Given the description of an element on the screen output the (x, y) to click on. 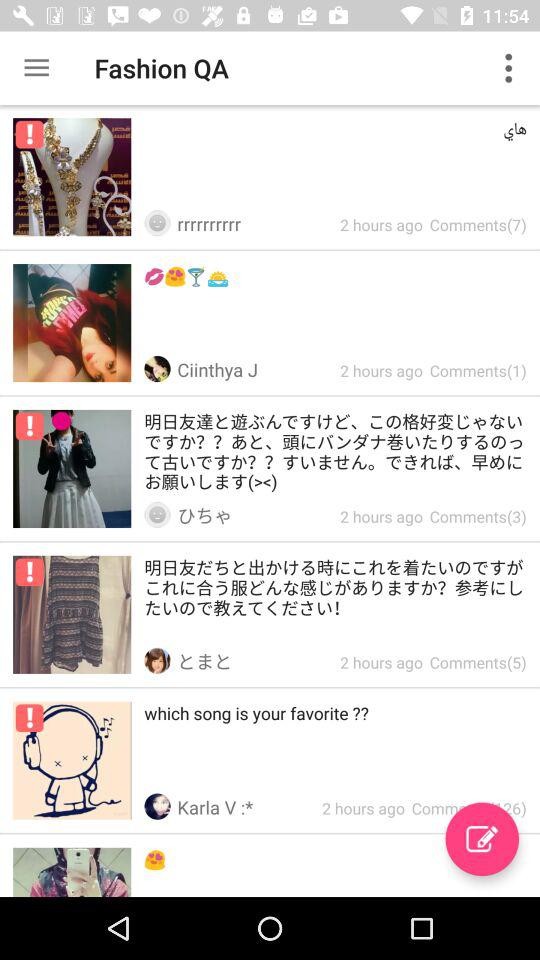
launch icon to the right of the 2 hours ago item (482, 839)
